Given the description of an element on the screen output the (x, y) to click on. 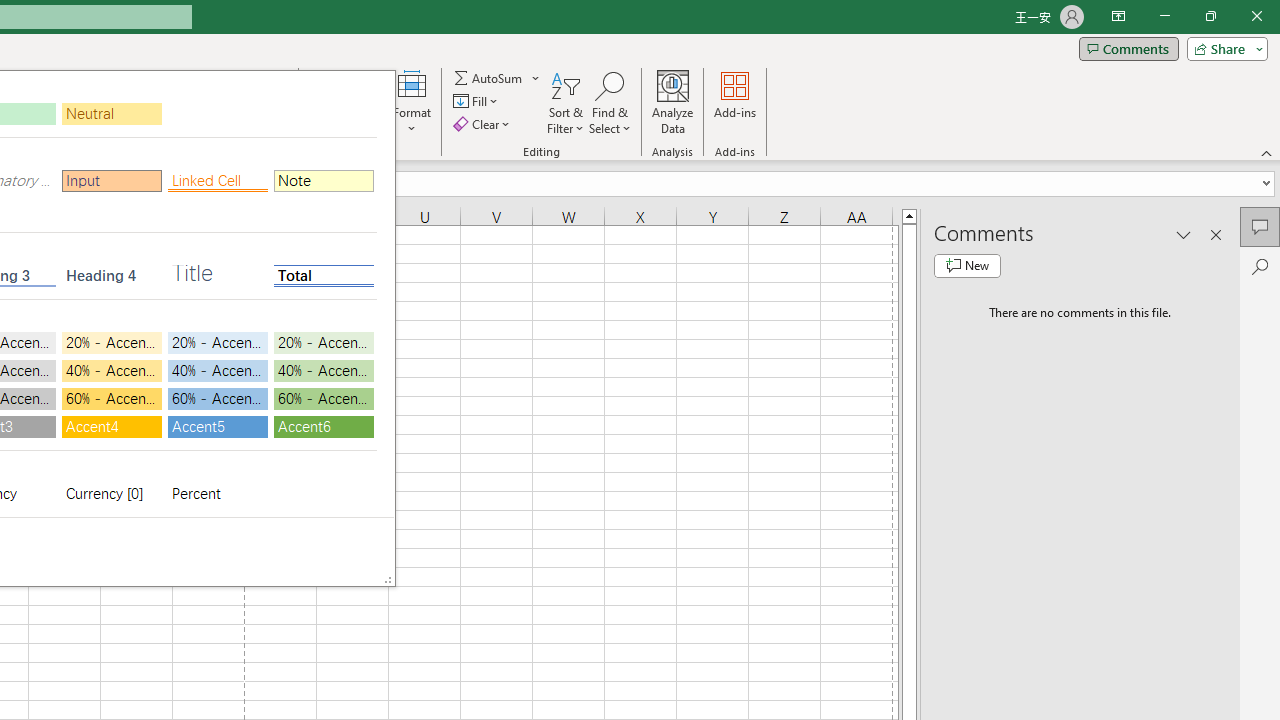
New comment (967, 265)
Find & Select (610, 102)
Fill (477, 101)
AutoSum (497, 78)
Sort & Filter (566, 102)
